Given the description of an element on the screen output the (x, y) to click on. 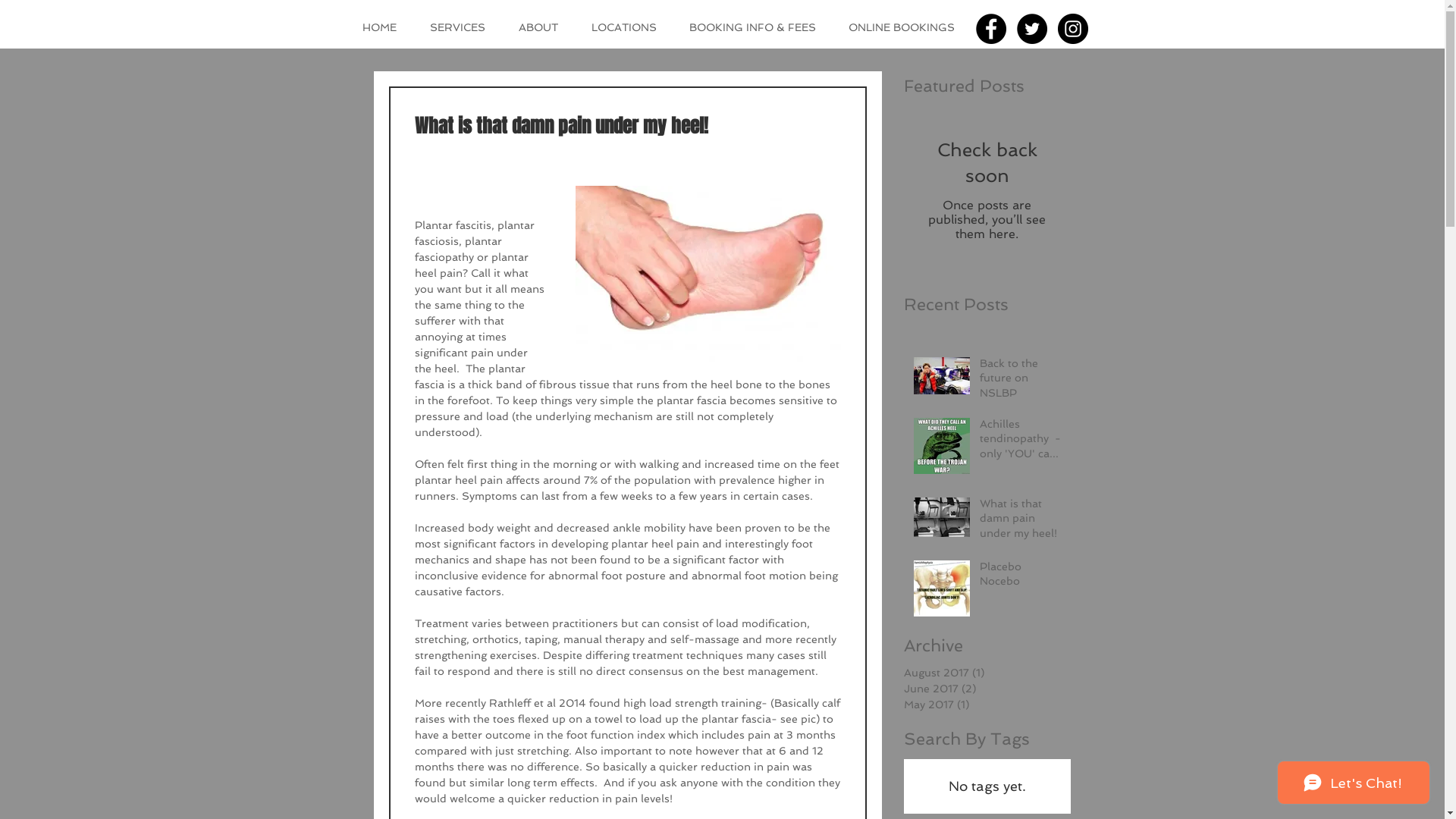
August 2017 (1) Element type: text (983, 672)
What is that damn pain under my heel! Element type: text (1020, 521)
Back to the future on NSLBP Element type: text (1020, 381)
HOME Element type: text (383, 26)
Achilles tendinopathy  -only 'YOU' can fix it. Element type: text (1020, 442)
June 2017 (2) Element type: text (983, 688)
Placebo Nocebo Element type: text (1020, 577)
May 2017 (1) Element type: text (983, 704)
